Given the description of an element on the screen output the (x, y) to click on. 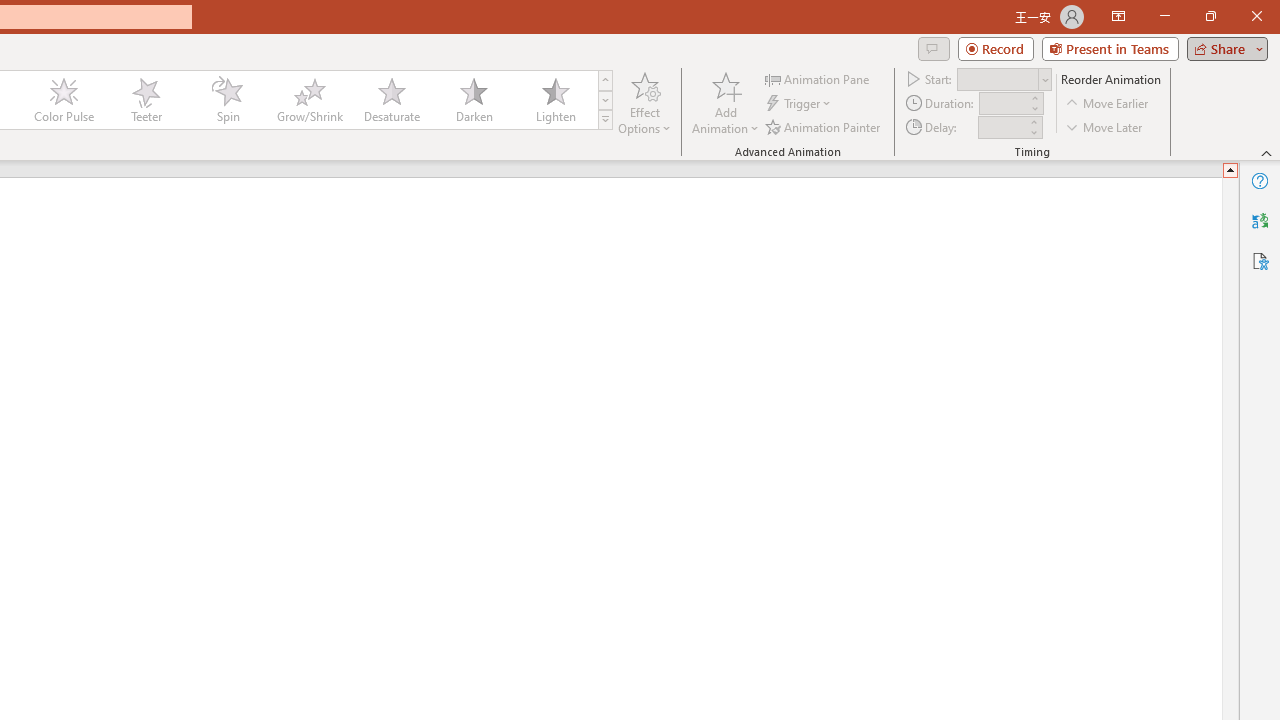
Color Pulse (63, 100)
Animation Styles (605, 120)
Darken (473, 100)
Lighten (555, 100)
Teeter (145, 100)
Animation Duration (1003, 103)
Desaturate (391, 100)
